Given the description of an element on the screen output the (x, y) to click on. 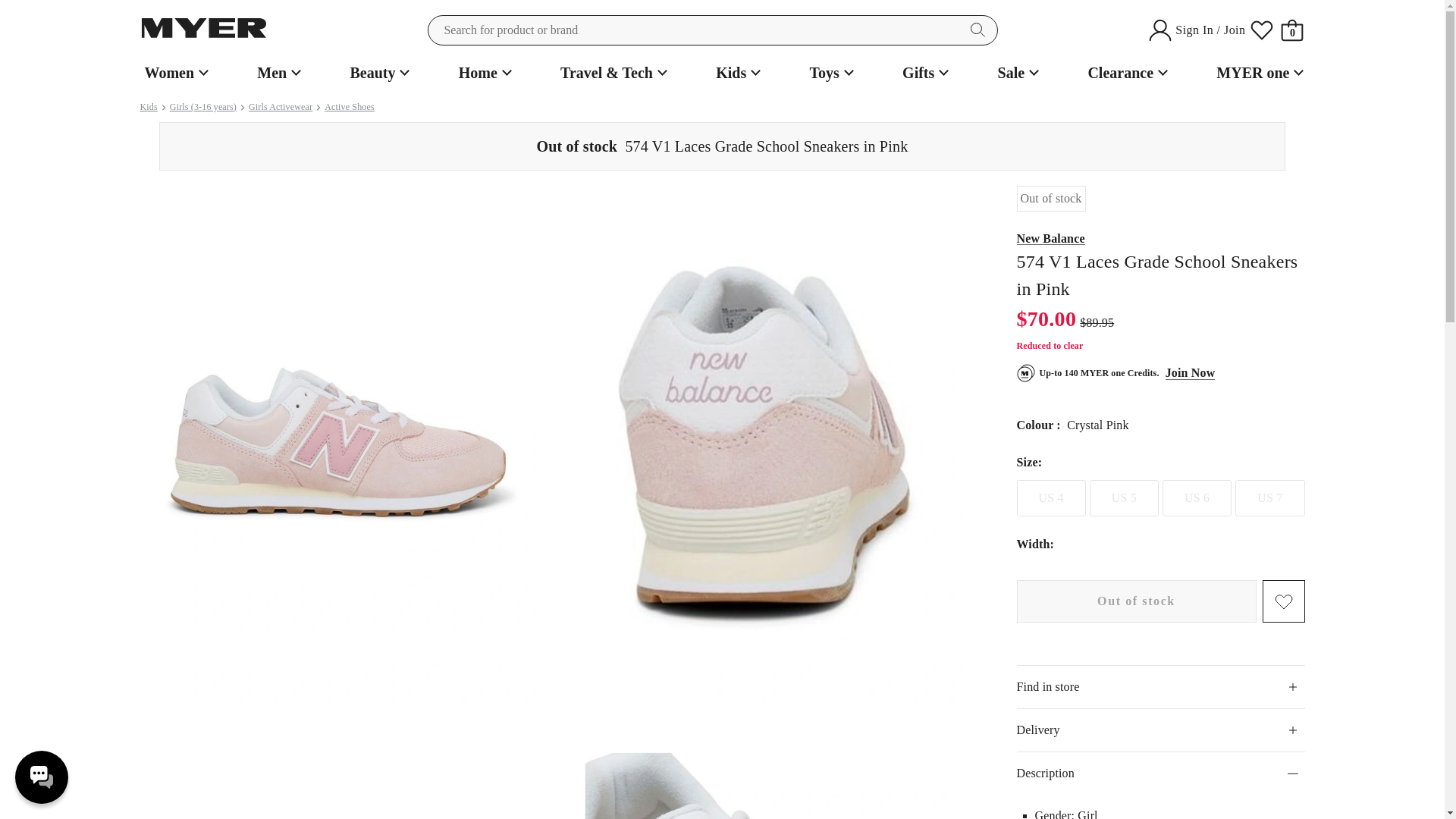
Click here to toggle the virtual assistant (41, 777)
0 (1291, 30)
Women (174, 72)
